Given the description of an element on the screen output the (x, y) to click on. 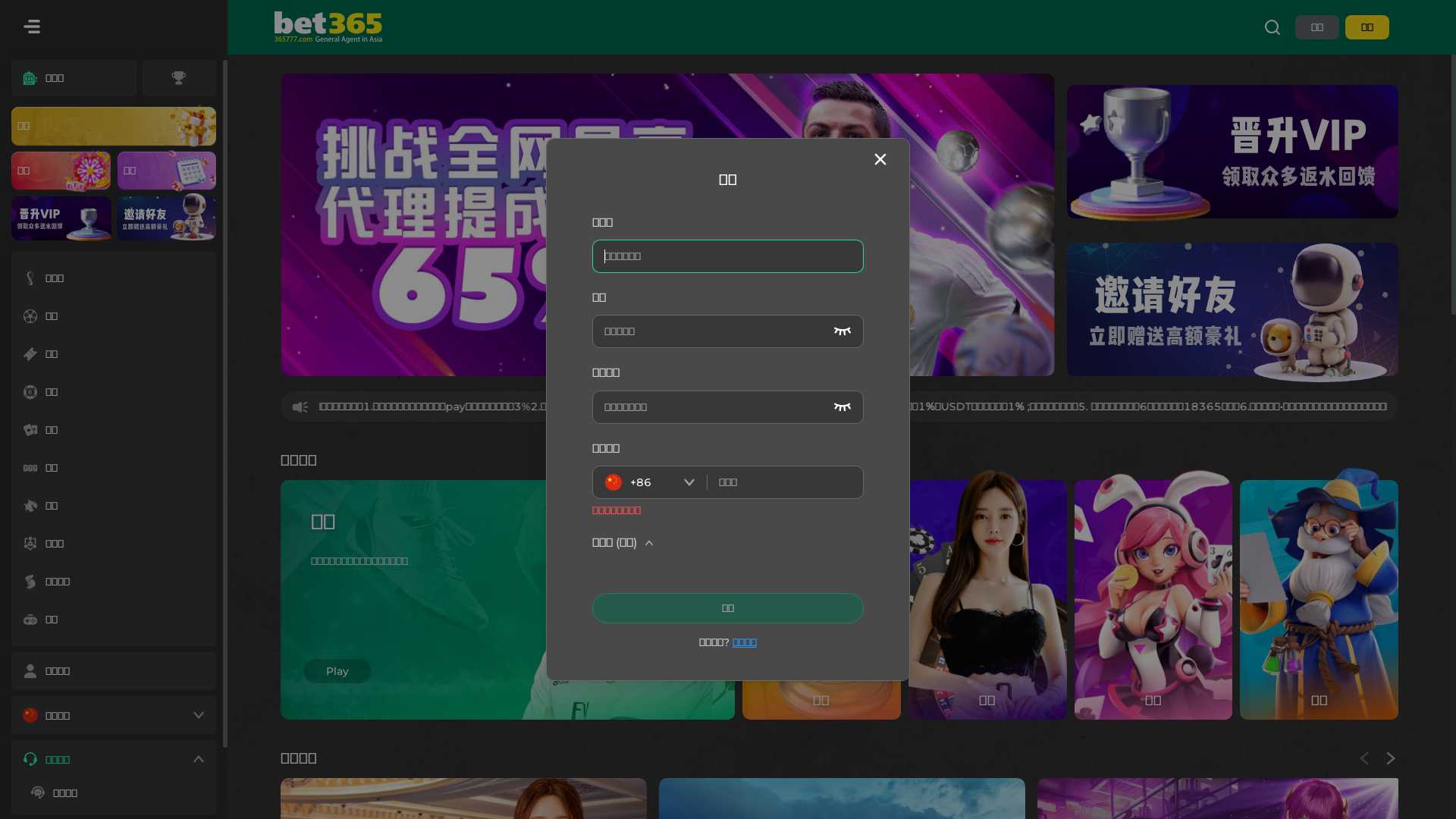
Play Element type: text (337, 670)
